Given the description of an element on the screen output the (x, y) to click on. 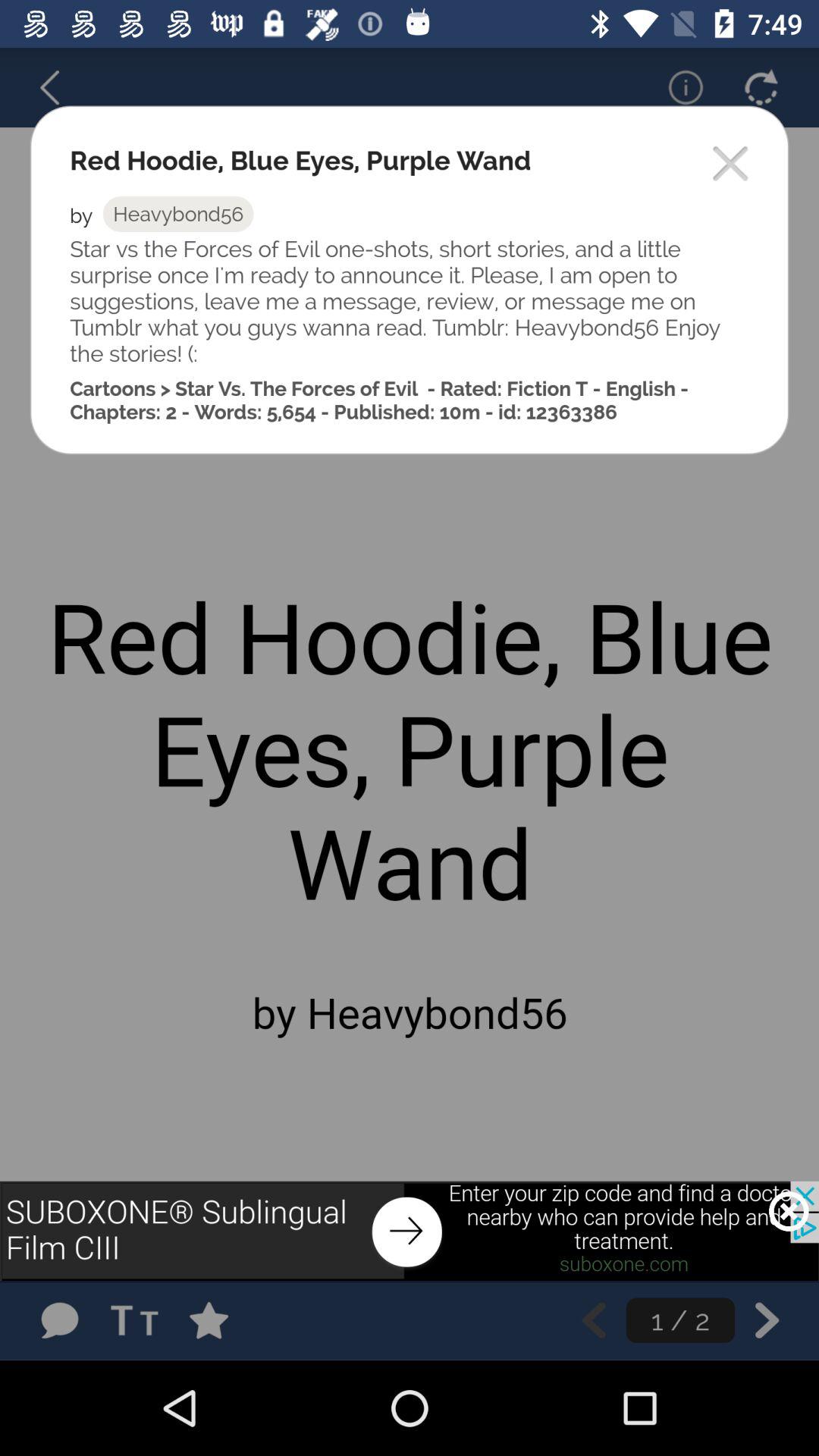
go back option (59, 87)
